Given the description of an element on the screen output the (x, y) to click on. 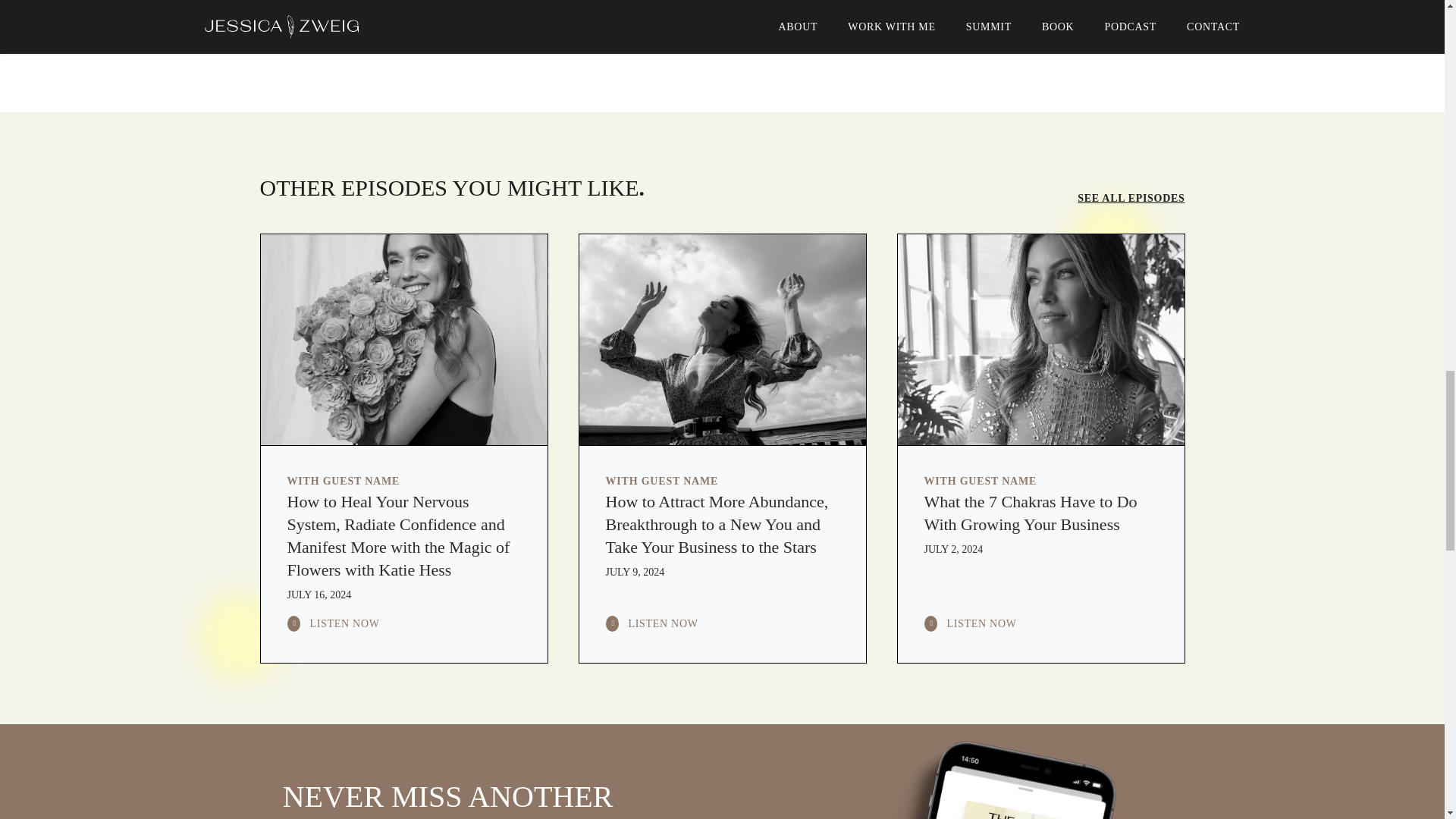
I (357, 29)
SEE ALL EPISODES (1131, 198)
F (304, 29)
